Given the description of an element on the screen output the (x, y) to click on. 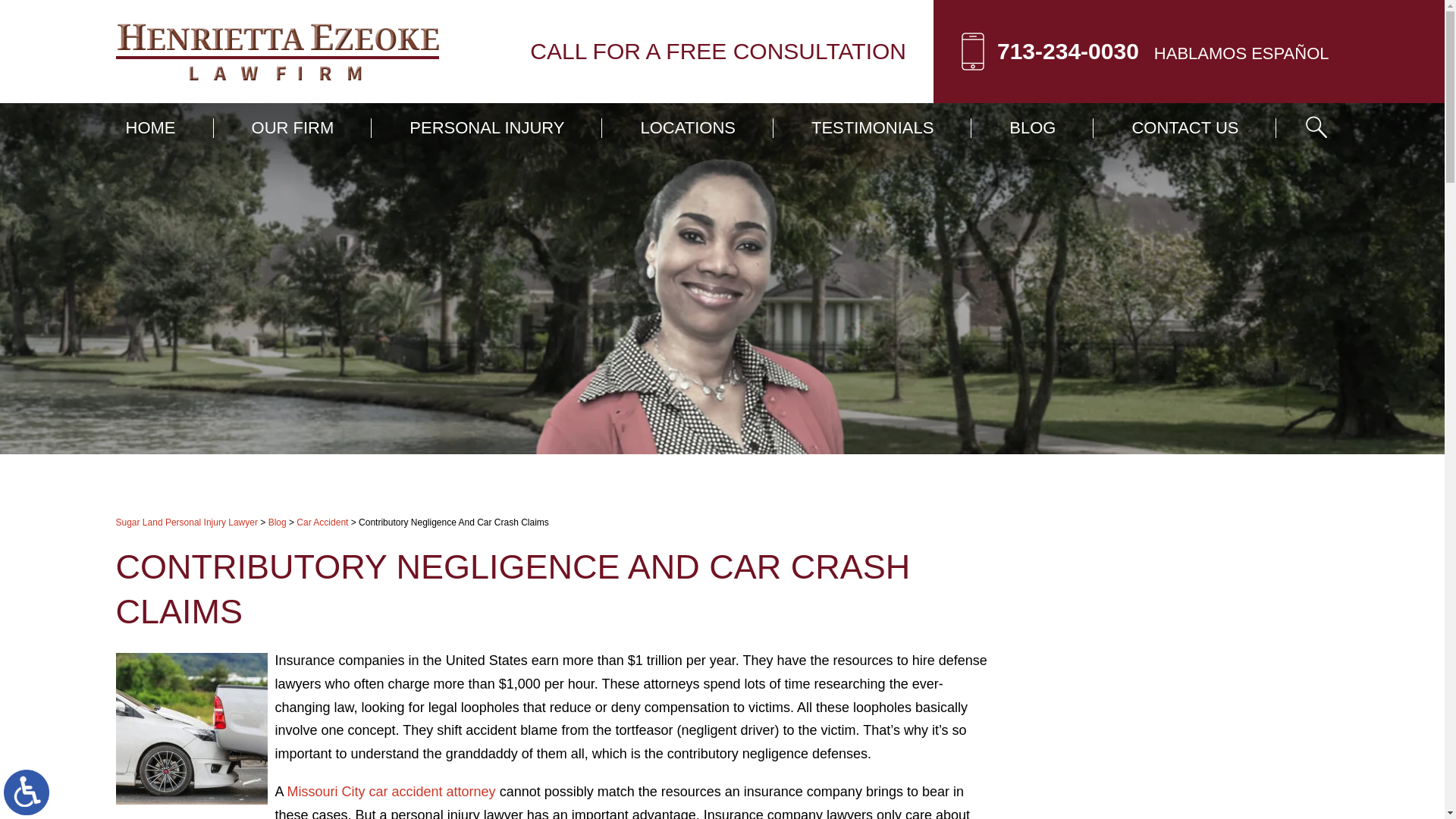
OUR FIRM (292, 128)
HOME (150, 128)
Switch to ADA Accessible Website (26, 791)
713-234-0030 (1067, 50)
CarAcc1 (190, 728)
PERSONAL INJURY (486, 128)
